Given the description of an element on the screen output the (x, y) to click on. 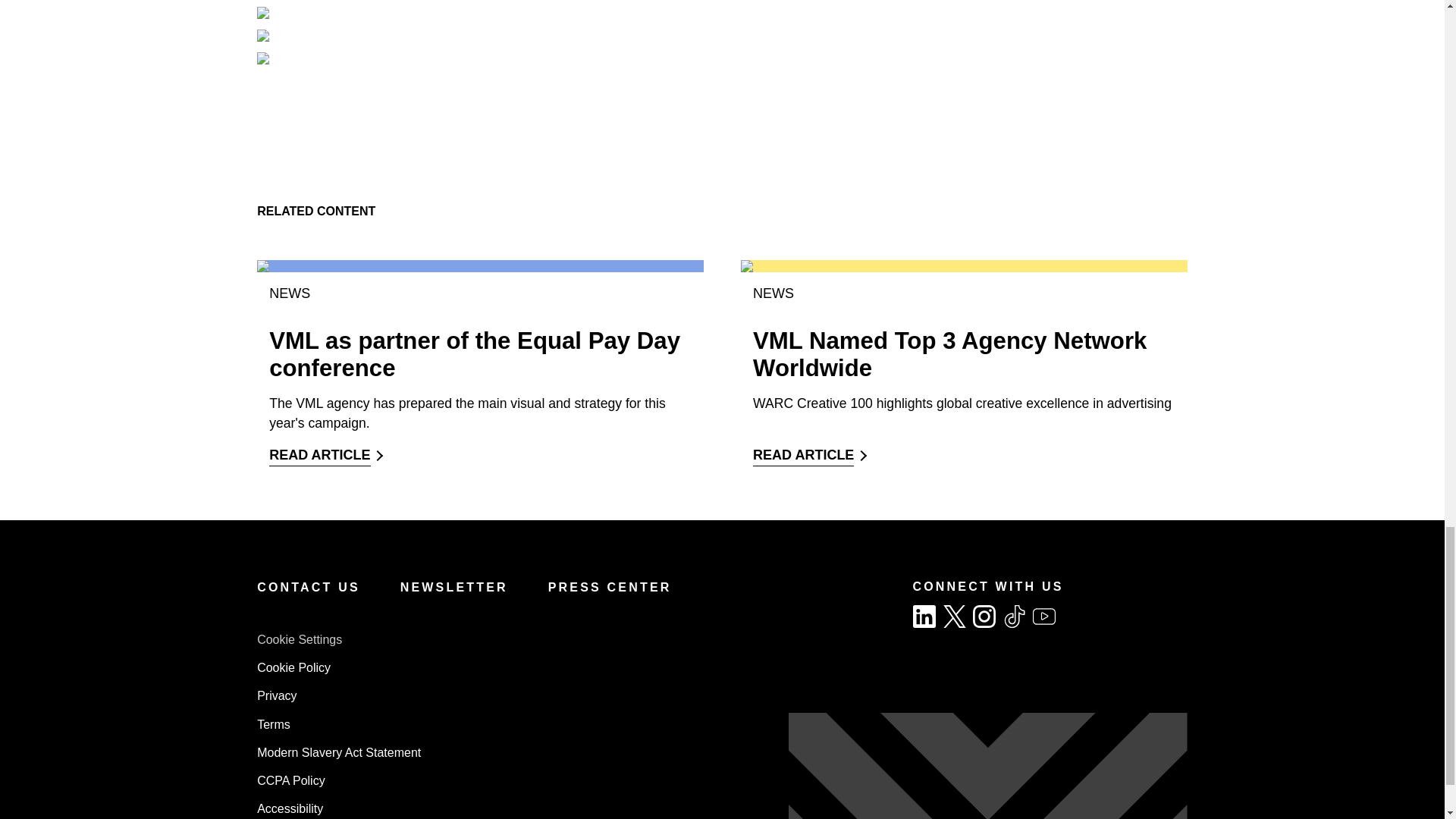
YouTube (1043, 616)
X (954, 616)
Instagram (983, 616)
TikTok (1014, 616)
LinkedIn (924, 616)
